Given the description of an element on the screen output the (x, y) to click on. 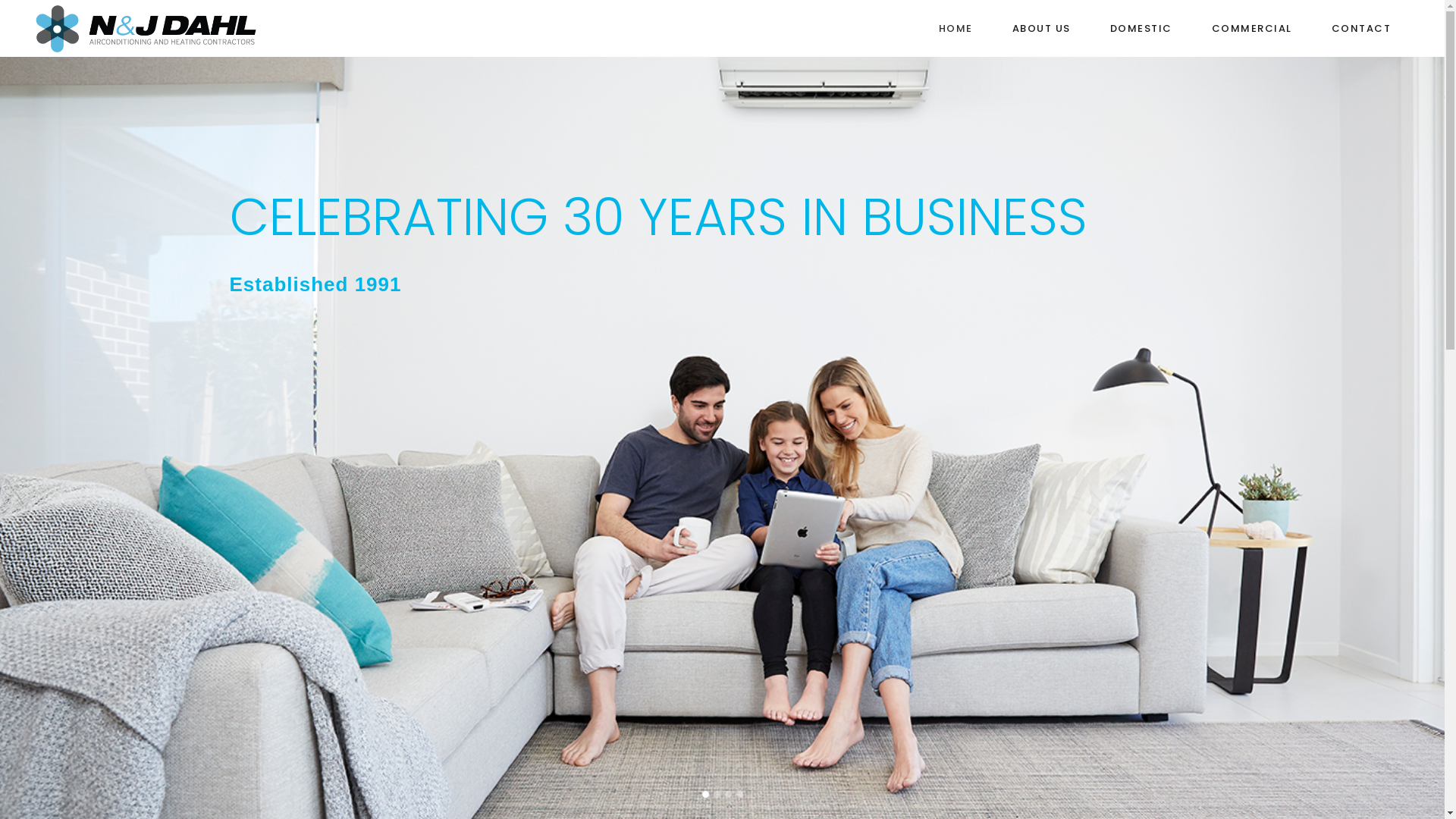
ABOUT US Element type: text (1040, 28)
COMMERCIAL Element type: text (1251, 28)
DOMESTIC Element type: text (1141, 28)
HOME Element type: text (955, 28)
CONTACT Element type: text (1361, 28)
